Given the description of an element on the screen output the (x, y) to click on. 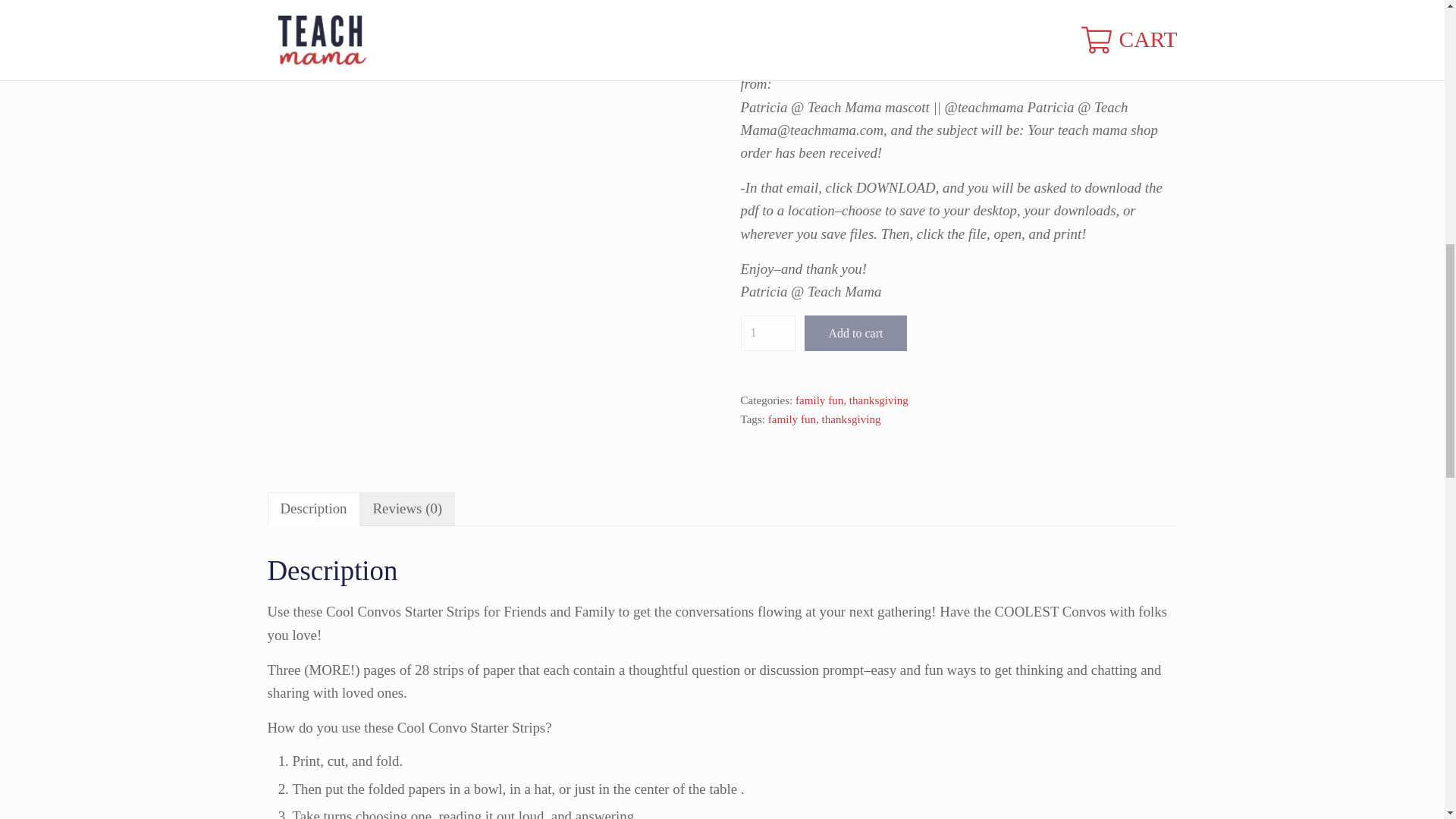
family fun (791, 419)
thanksgiving (878, 399)
Add to cart (855, 332)
Description (312, 509)
family fun (818, 399)
1 (766, 332)
thanksgiving (851, 419)
